Given the description of an element on the screen output the (x, y) to click on. 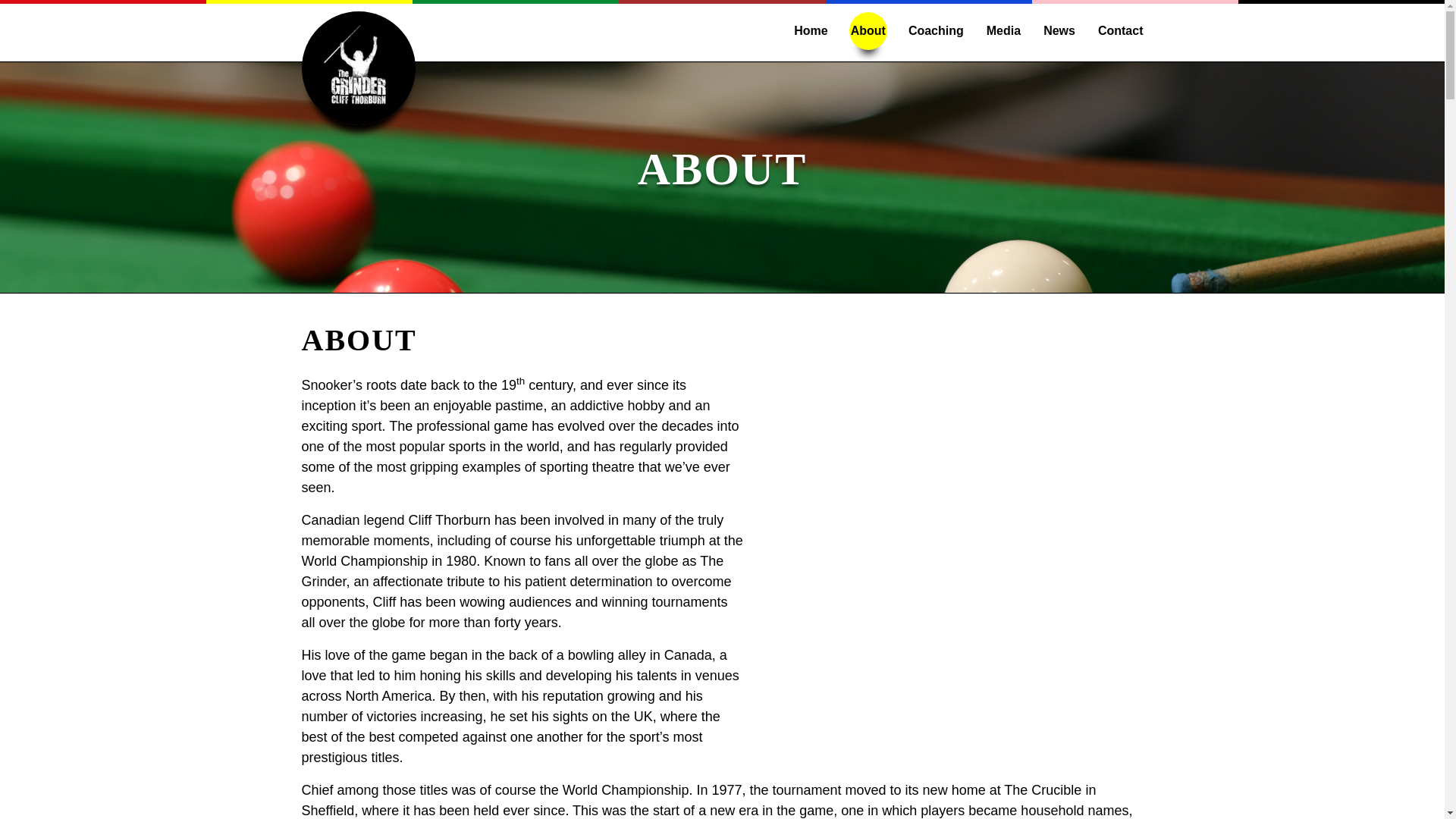
Home (810, 30)
Media (1003, 30)
News (1059, 30)
Coaching (935, 30)
Contact (1119, 30)
About (867, 30)
